Given the description of an element on the screen output the (x, y) to click on. 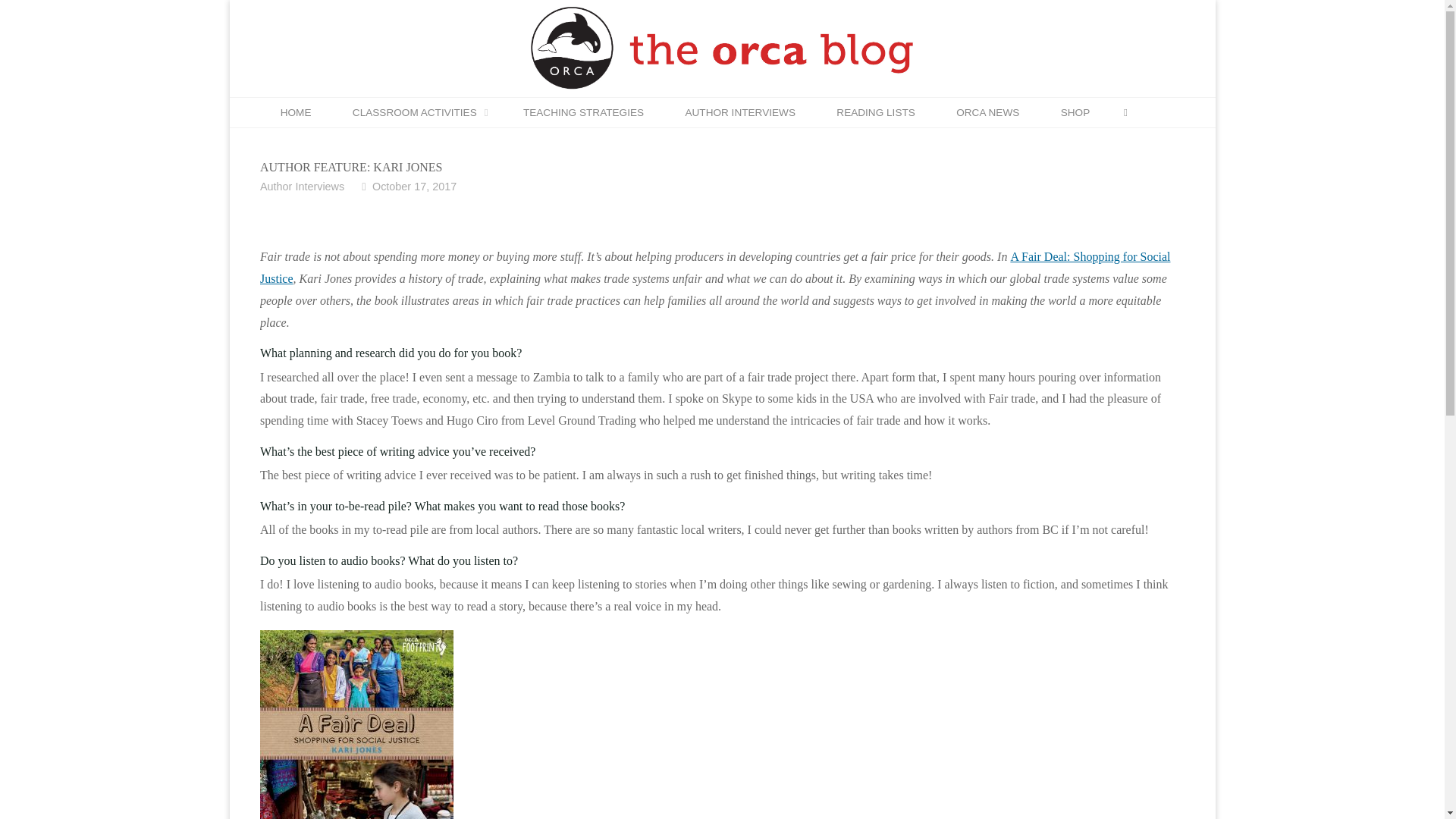
ORCA NEWS (987, 112)
READING LISTS (875, 112)
AUTHOR INTERVIEWS (739, 112)
HOME (295, 112)
CLASSROOM ACTIVITIES (416, 112)
TEACHING STRATEGIES (583, 112)
